Given the description of an element on the screen output the (x, y) to click on. 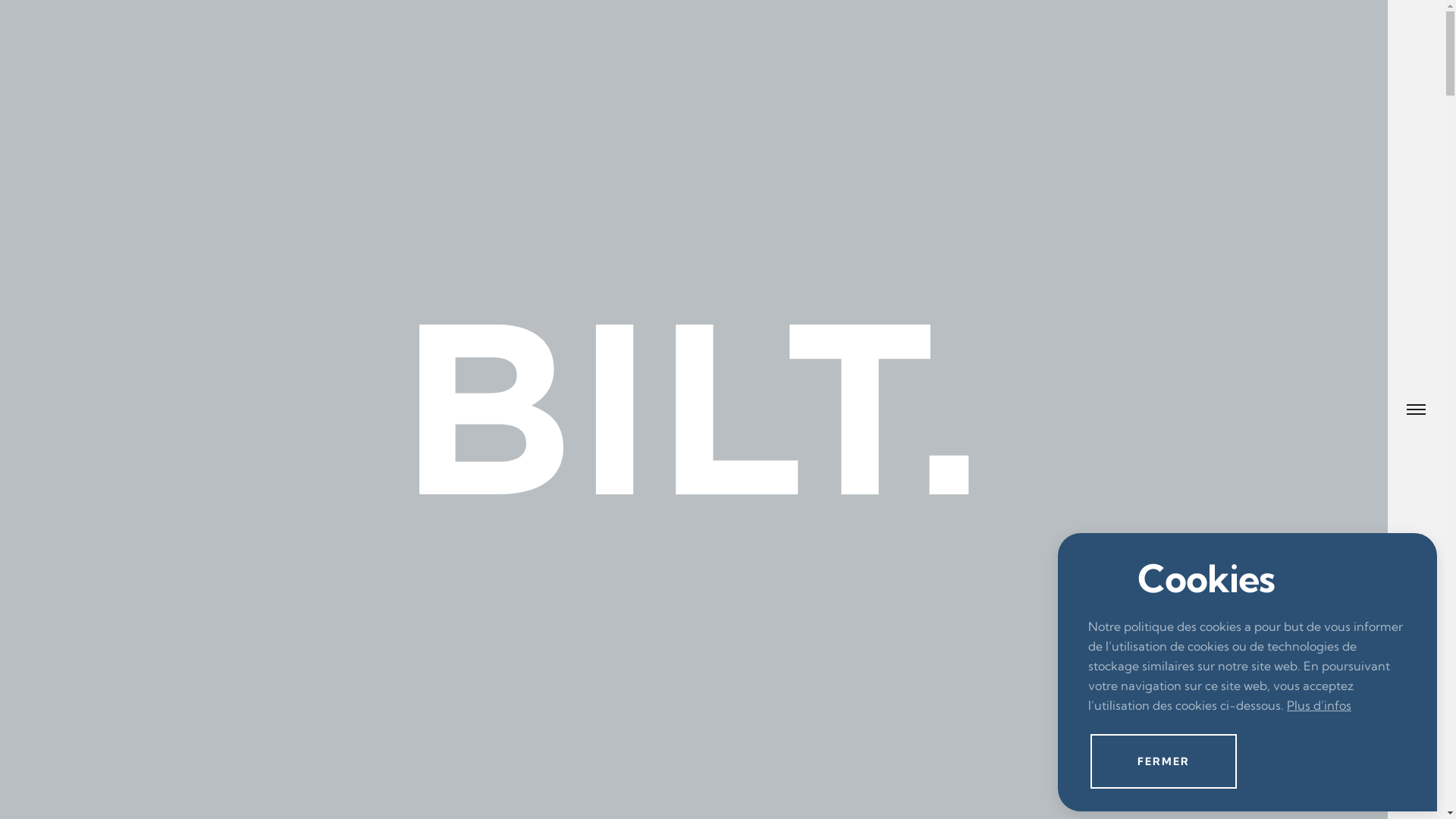
FERMER Element type: text (1163, 761)
